Given the description of an element on the screen output the (x, y) to click on. 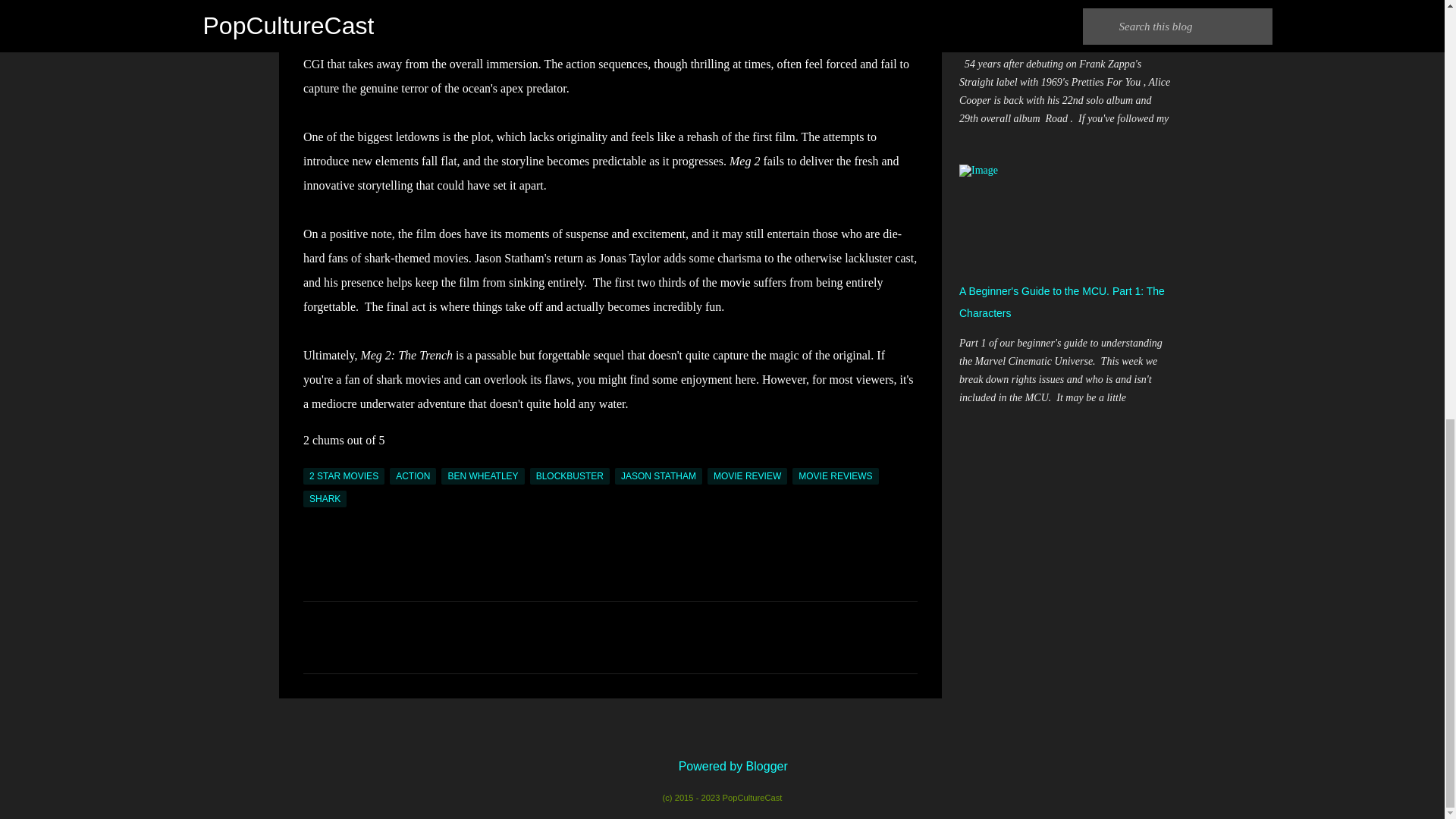
BLOCKBUSTER (569, 475)
MOVIE REVIEW (747, 475)
MOVIE REVIEWS (834, 475)
2 STAR MOVIES (343, 475)
ACTION (412, 475)
Powered by Blogger (721, 766)
SHARK (324, 498)
JASON STATHAM (657, 475)
BEN WHEATLEY (482, 475)
A Beginner's Guide to the MCU. Part 1: The Characters (1061, 302)
